Given the description of an element on the screen output the (x, y) to click on. 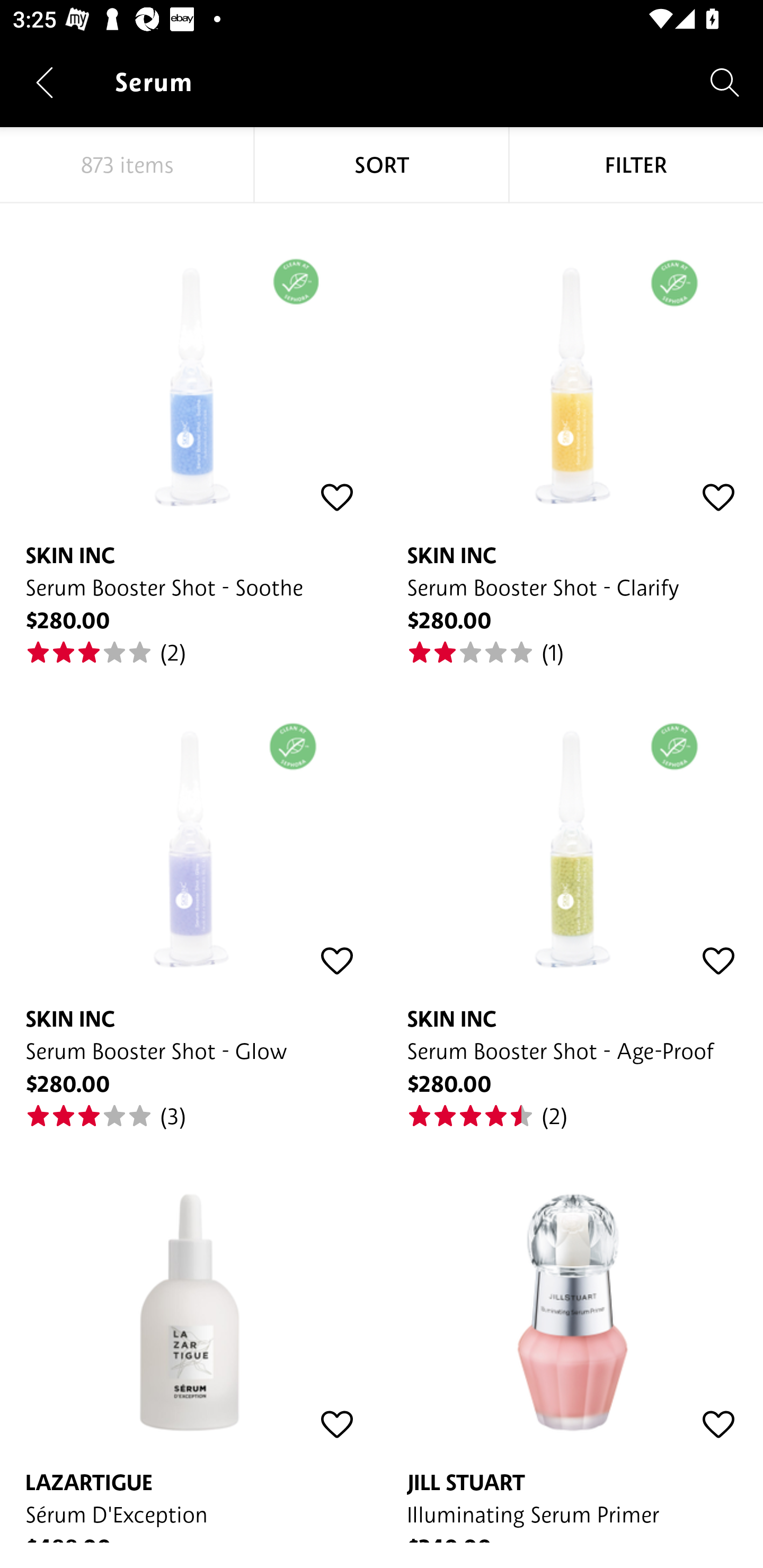
Navigate up (44, 82)
Search (724, 81)
SORT (381, 165)
FILTER (636, 165)
SKIN INC Serum Booster Shot - Soothe $280.00 (2) (190, 434)
SKIN INC Serum Booster Shot - Clarify $280.00 (1) (571, 434)
SKIN INC Serum Booster Shot - Glow $280.00 (3) (190, 898)
LAZARTIGUE Sérum D'Exception $488.00 (190, 1336)
JILL STUART Illuminating Serum Primer $240.00 (32) (571, 1336)
